Given the description of an element on the screen output the (x, y) to click on. 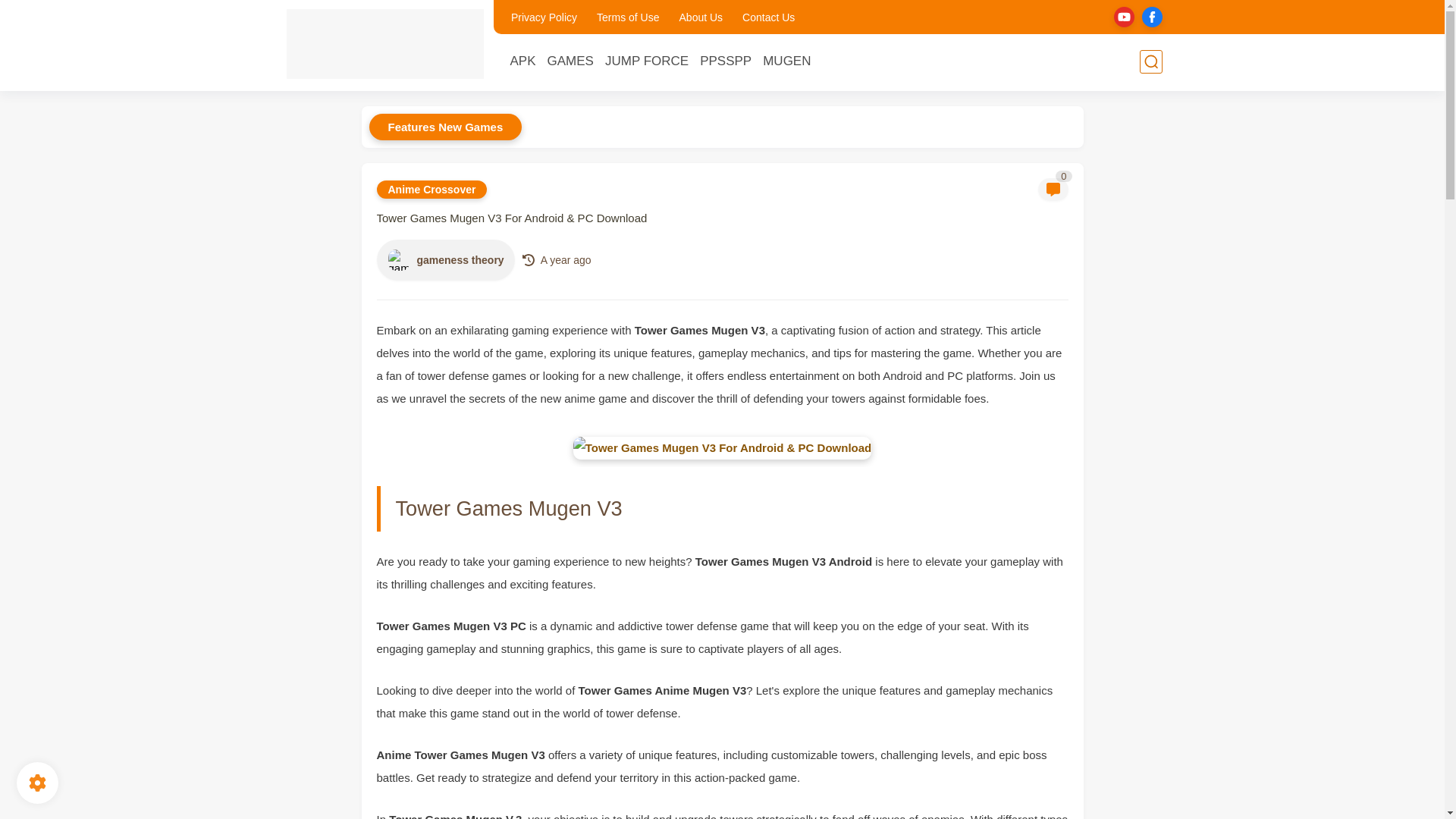
GAMES (570, 61)
Article Update Date (565, 259)
PPSSPP (725, 61)
Privacy Policy (544, 17)
Anime Crossover (430, 189)
GAMES (570, 61)
About Us (700, 17)
APK (522, 61)
PPSSPP (725, 61)
Terms of Use (628, 17)
